Given the description of an element on the screen output the (x, y) to click on. 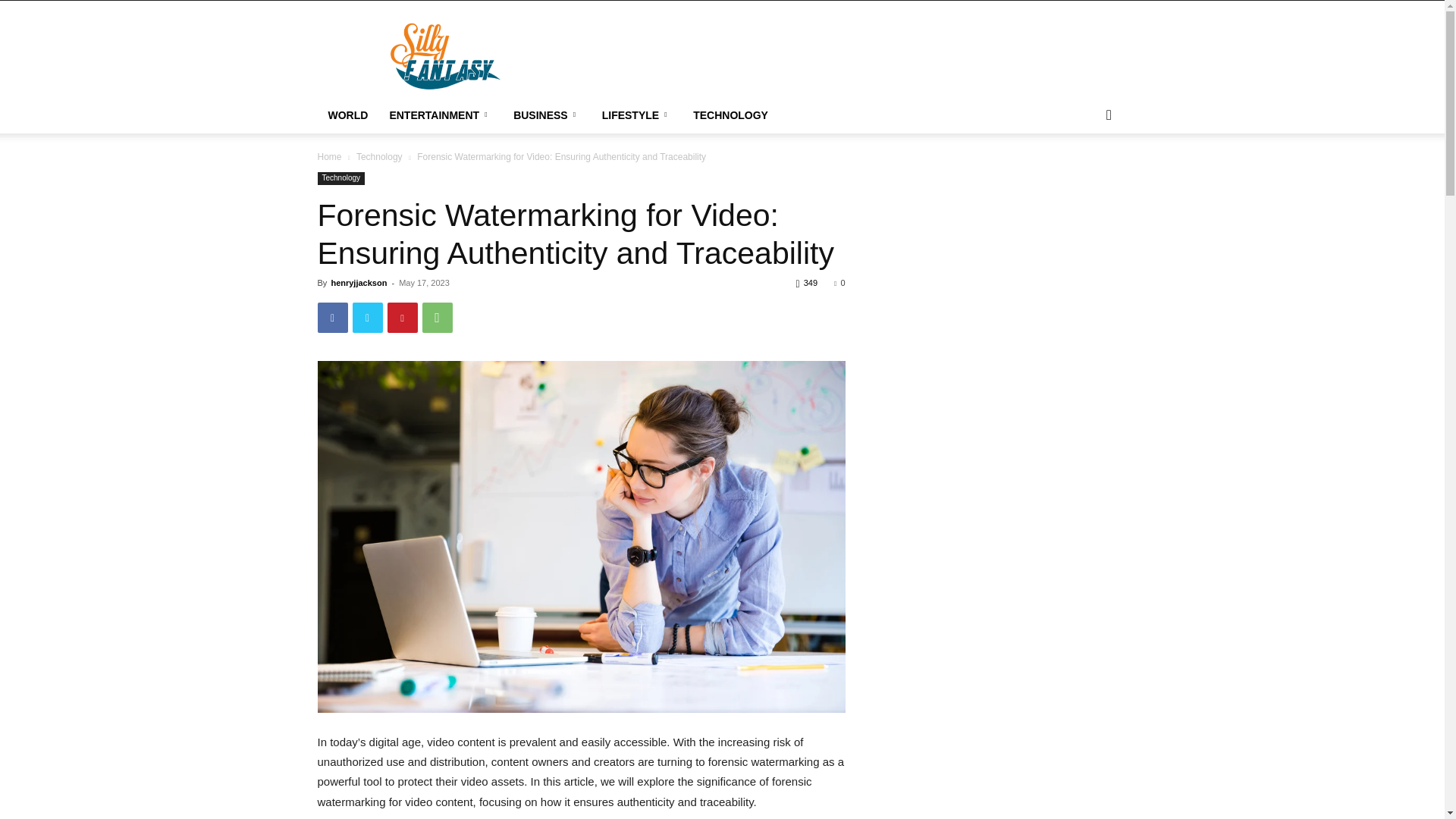
View all posts in Technology (379, 156)
BUSINESS (546, 115)
WORLD (347, 115)
Facebook (332, 317)
Pinterest (401, 317)
Search (1085, 175)
ENTERTAINMENT (440, 115)
LIFESTYLE (636, 115)
Twitter (366, 317)
Technology (379, 156)
WhatsApp (436, 317)
TECHNOLOGY (730, 115)
Technology (341, 178)
Home (328, 156)
